Given the description of an element on the screen output the (x, y) to click on. 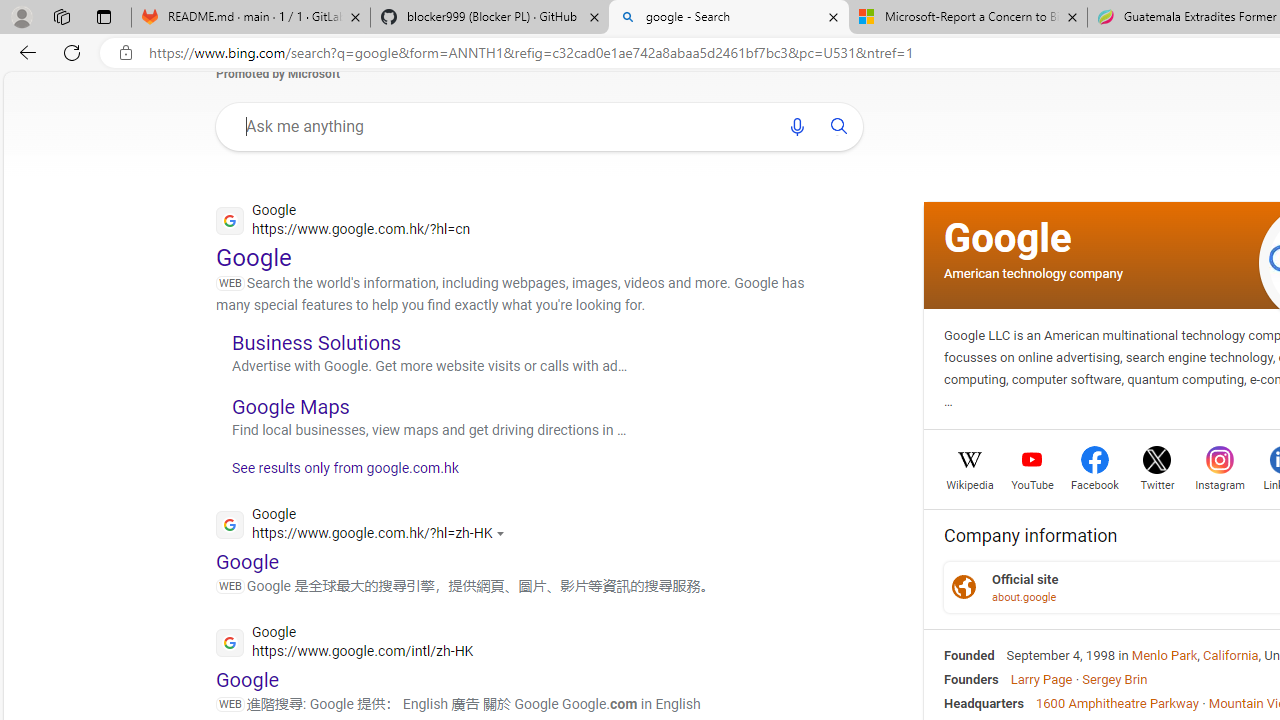
Larry Page (1040, 678)
AutomationID: uaseabtn (839, 126)
Instagram (1219, 483)
Actions for this site (503, 533)
Close tab (1072, 16)
Personal Profile (21, 16)
Google (1008, 237)
